Given the description of an element on the screen output the (x, y) to click on. 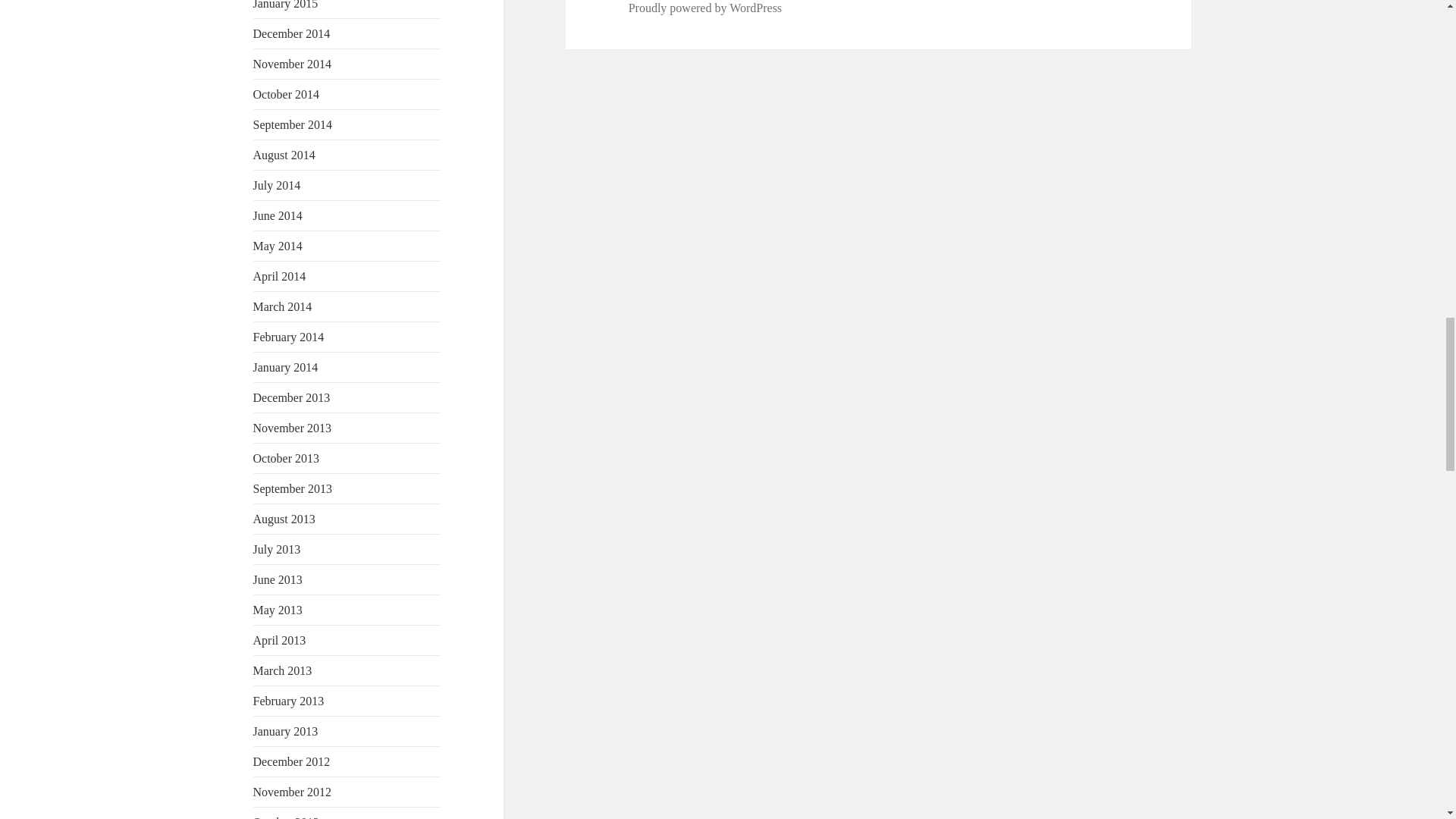
June 2014 (277, 215)
October 2014 (286, 93)
August 2014 (284, 154)
September 2014 (292, 124)
November 2014 (292, 63)
May 2014 (277, 245)
July 2014 (277, 185)
March 2014 (283, 306)
January 2015 (285, 4)
April 2014 (279, 276)
December 2014 (291, 33)
